Given the description of an element on the screen output the (x, y) to click on. 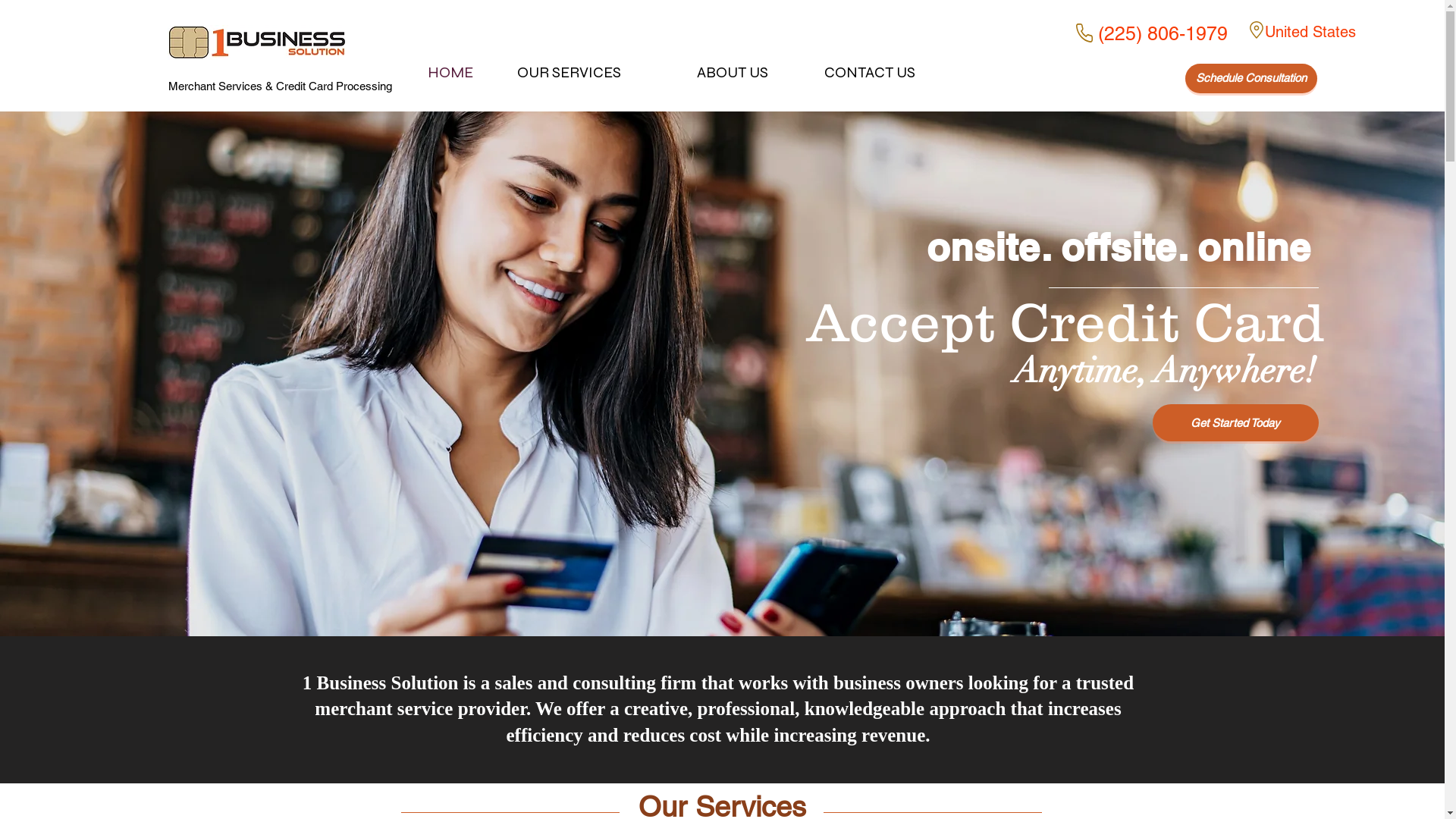
HOME Element type: text (406, 72)
OUR SERVICES Element type: text (554, 72)
CONTACT US Element type: text (848, 72)
Schedule Consultation Element type: text (1251, 78)
ABOUT US Element type: text (701, 72)
